Given the description of an element on the screen output the (x, y) to click on. 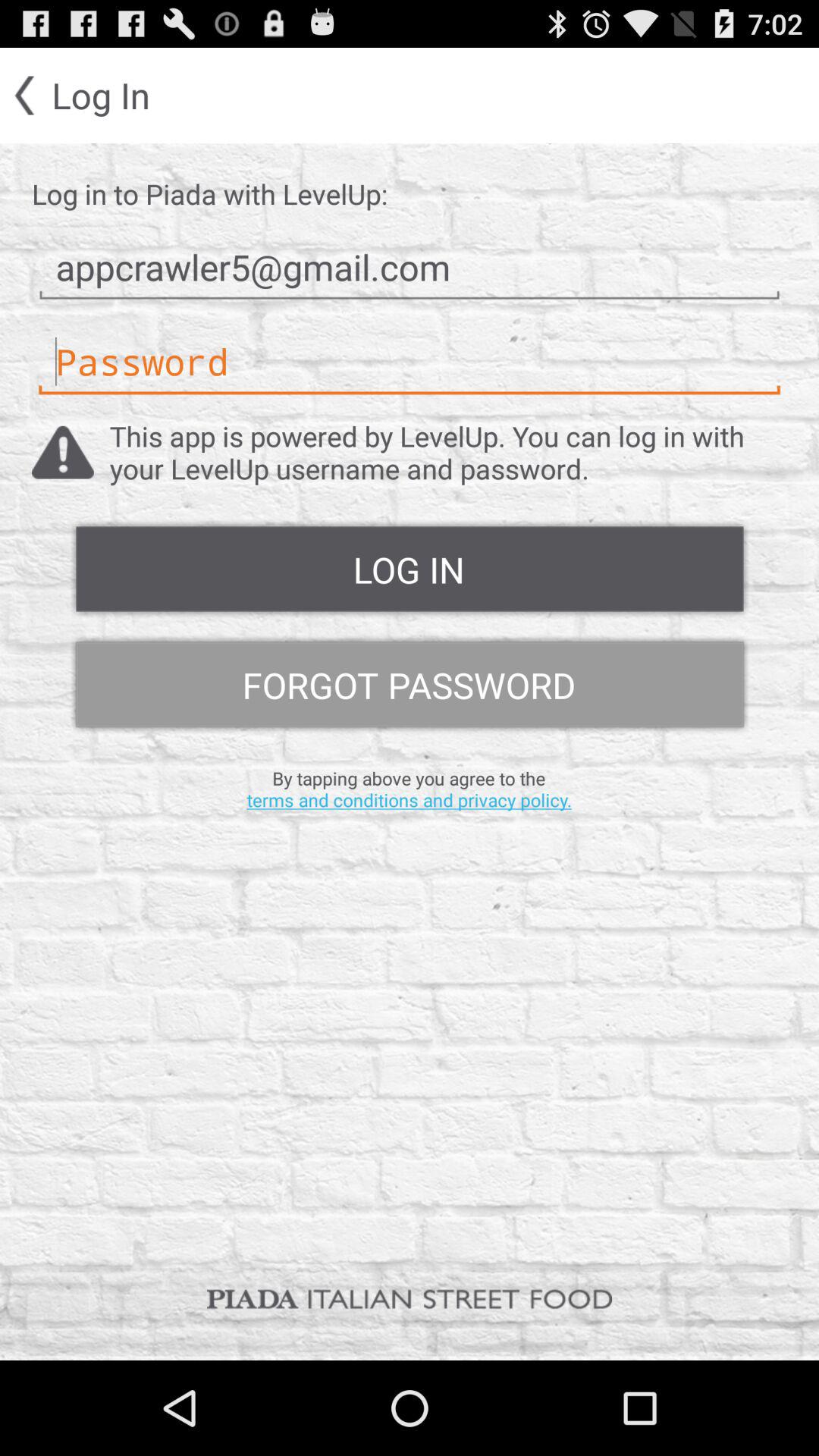
password dialogue box (409, 362)
